Given the description of an element on the screen output the (x, y) to click on. 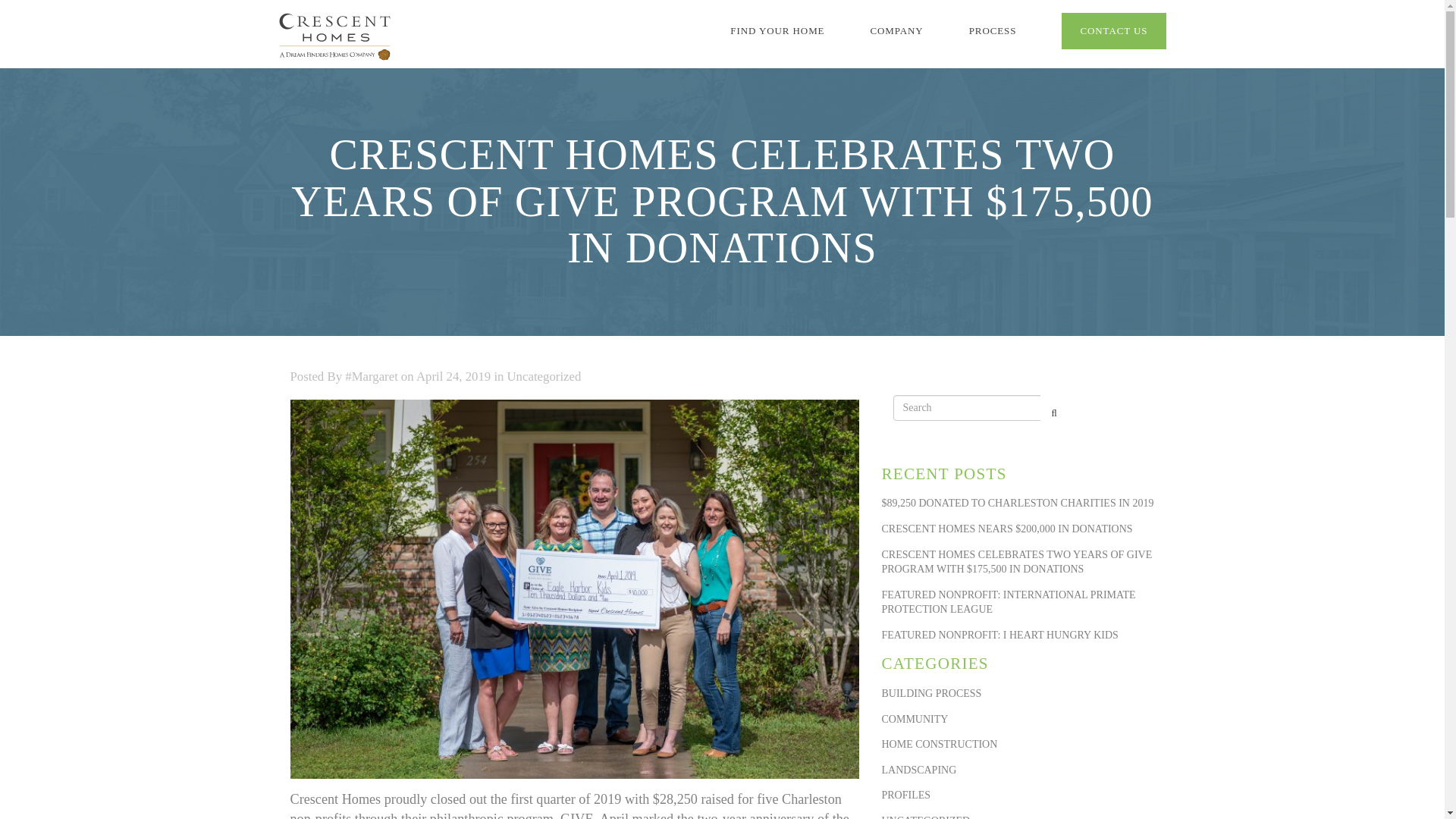
FIND YOUR HOME (777, 30)
CONTACT US (1113, 30)
